Given the description of an element on the screen output the (x, y) to click on. 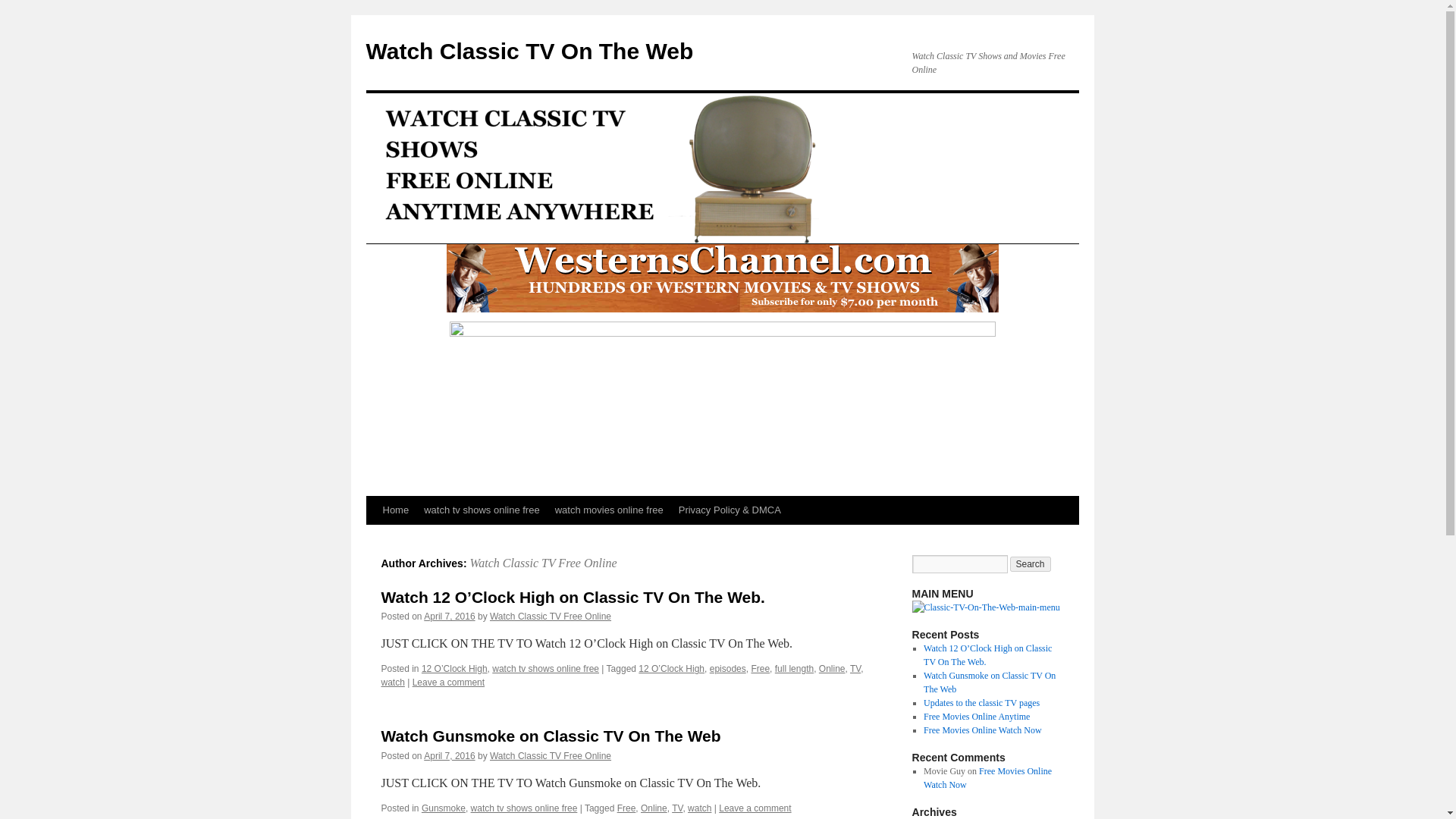
3:01 pm (448, 615)
Home (395, 510)
Search (1030, 563)
watch tv shows online free (481, 510)
Watch Classic TV On The Web (529, 50)
Watch Classic TV On The Web (529, 50)
View all posts by Watch Classic TV Free Online (550, 615)
Watch Classic TV Free Online (541, 562)
View all posts by Watch Classic TV Free Online (550, 756)
2:31 pm (448, 756)
